Given the description of an element on the screen output the (x, y) to click on. 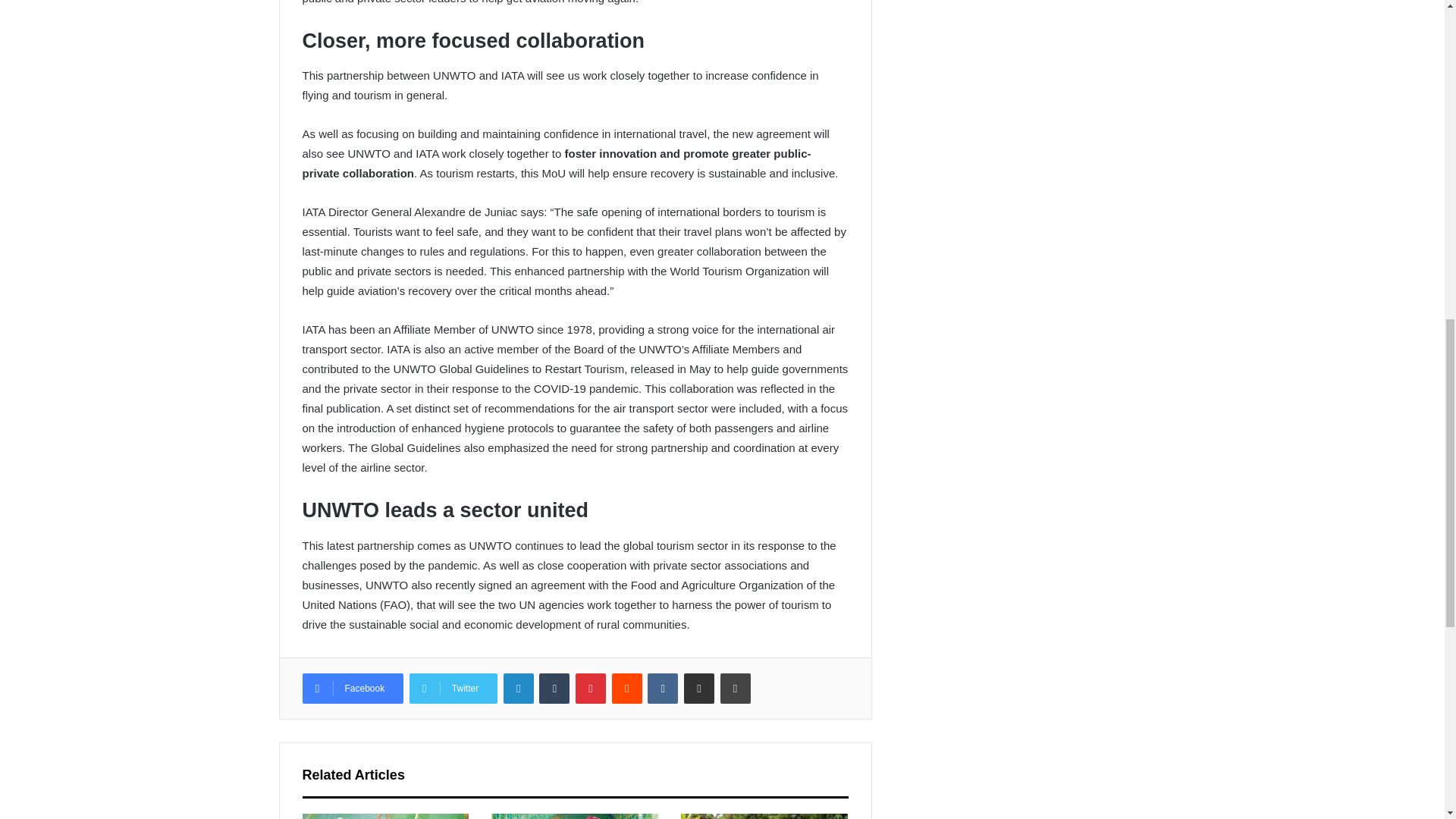
Facebook (352, 688)
LinkedIn (518, 688)
Tumblr (553, 688)
LinkedIn (518, 688)
Pinterest (590, 688)
Share via Email (699, 688)
Print (735, 688)
Facebook (352, 688)
Twitter (453, 688)
Reddit (626, 688)
